Given the description of an element on the screen output the (x, y) to click on. 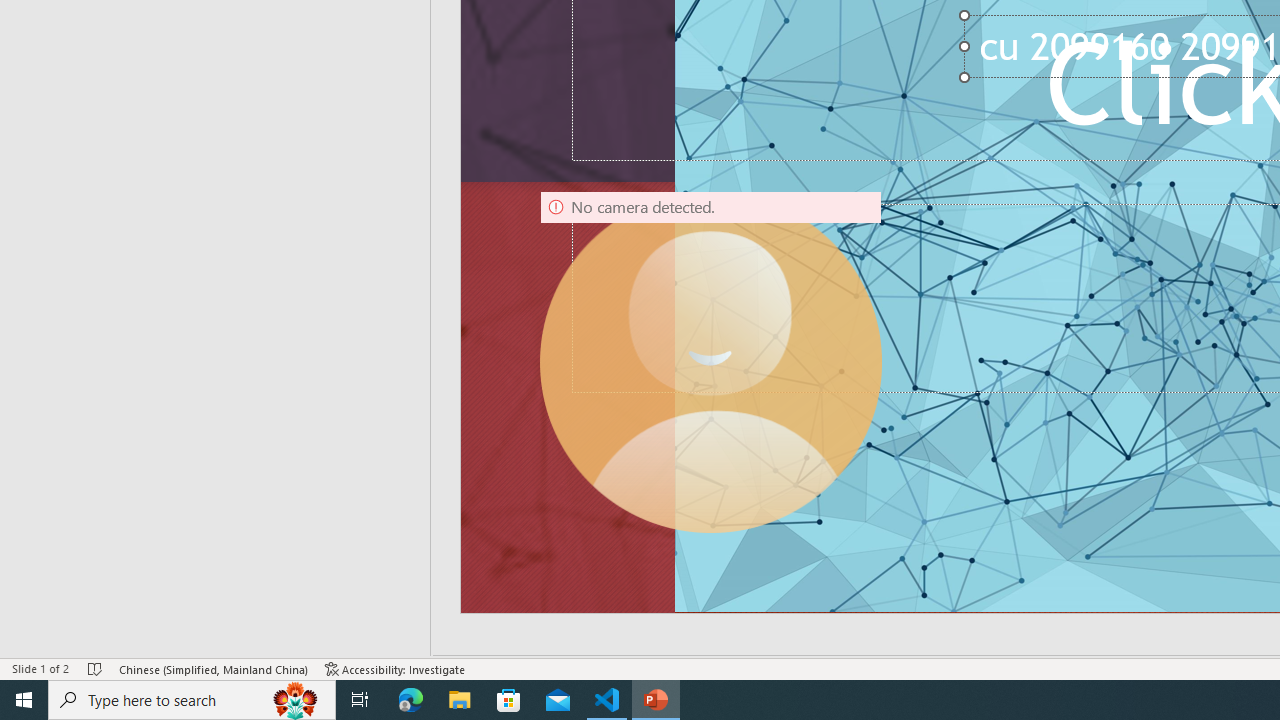
Camera 9, No camera detected. (710, 362)
